Given the description of an element on the screen output the (x, y) to click on. 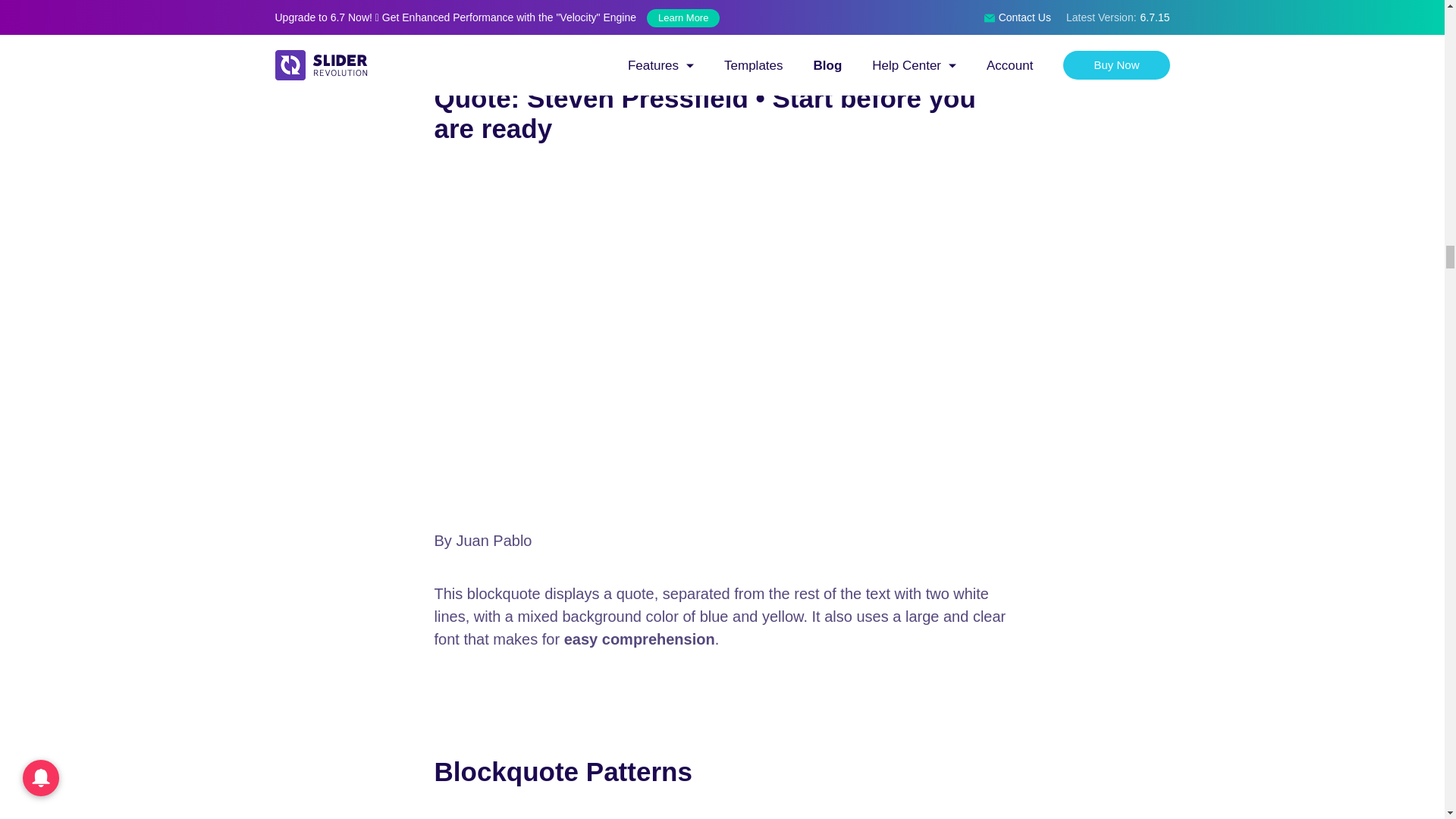
CodePen Embed krMKpj (721, 814)
